Given the description of an element on the screen output the (x, y) to click on. 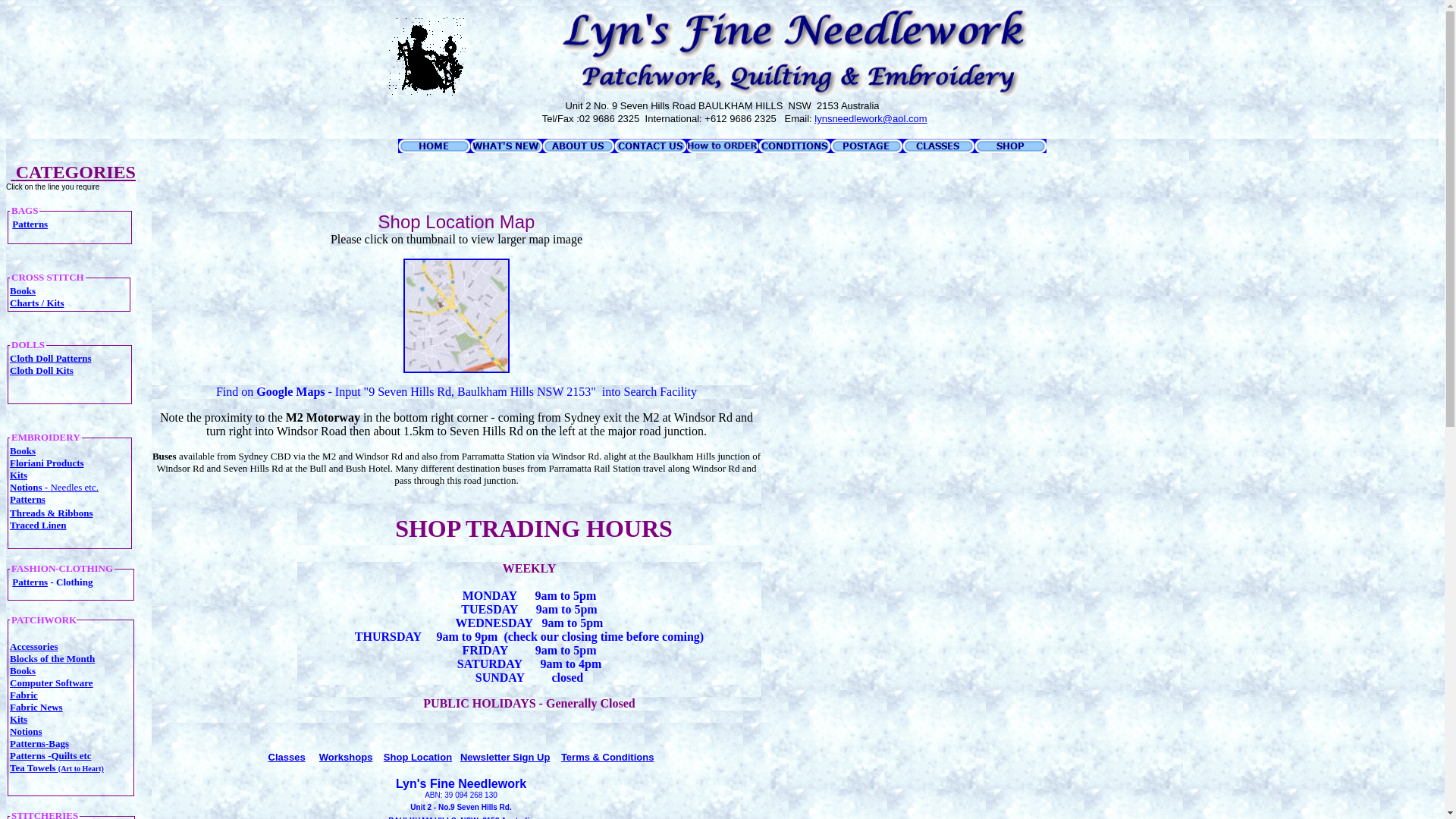
Books Element type: text (22, 450)
Needles etc. Element type: text (74, 486)
Books Element type: text (22, 290)
Patterns Element type: text (29, 223)
Patterns -Quilts etc Element type: text (50, 755)
Fabric Element type: text (23, 694)
Books Element type: text (22, 670)
Computer Software Element type: text (51, 682)
Patterns-Bags Element type: text (39, 743)
Patterns Element type: text (29, 581)
Kits Element type: text (18, 718)
Kits Element type: text (18, 474)
Fabric News Element type: text (35, 706)
Accessories Element type: text (33, 646)
Floriani Products Element type: text (46, 462)
Workshops Element type: text (346, 756)
Notions Element type: text (25, 731)
Patterns Element type: text (27, 499)
Terms & Conditions Element type: text (607, 756)
lynsneedlework@aol.com Element type: text (870, 118)
Classes Element type: text (286, 756)
Notions - Element type: text (29, 486)
Newsletter Sign Up Element type: text (504, 756)
Charts / Kits Element type: text (36, 301)
Shop Location Element type: text (417, 756)
Cloth Doll Kits Element type: text (41, 370)
Traced Linen Element type: text (37, 524)
Tea Towels (Art to Heart) Element type: text (56, 766)
Blocks of the Month Element type: text (51, 658)
Cloth Doll Patterns Element type: text (50, 358)
Threads & Ribbons Element type: text (51, 512)
